Given the description of an element on the screen output the (x, y) to click on. 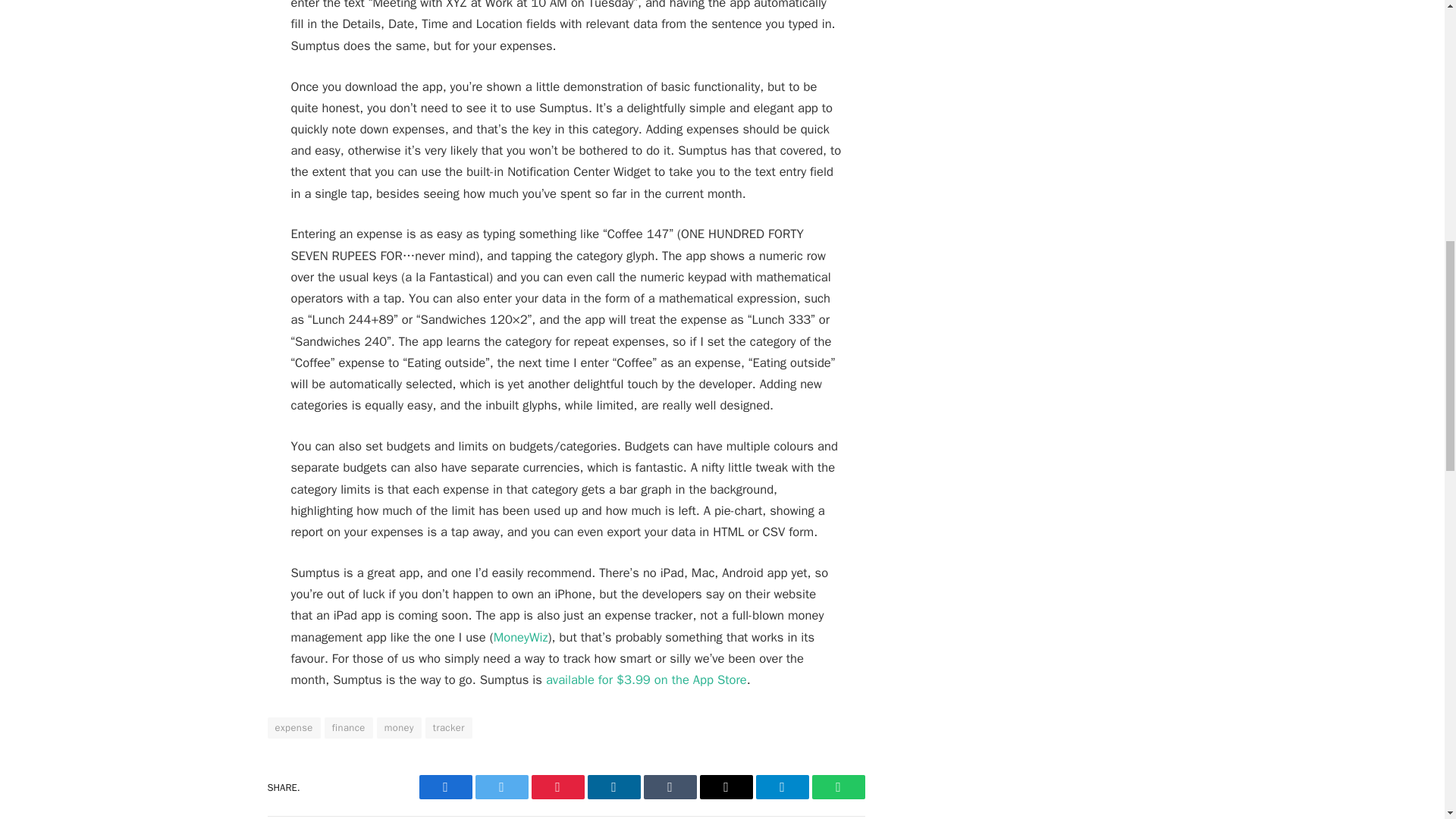
Telegram (781, 786)
WhatsApp (837, 786)
Pinterest (557, 786)
Tumblr (669, 786)
Facebook (445, 786)
Share on Pinterest (557, 786)
Share on LinkedIn (613, 786)
Share on WhatsApp (837, 786)
money (399, 727)
LinkedIn (613, 786)
Share on Facebook (445, 786)
Twitter (500, 786)
Share on Telegram (781, 786)
tracker (448, 727)
Share via Email (725, 786)
